Given the description of an element on the screen output the (x, y) to click on. 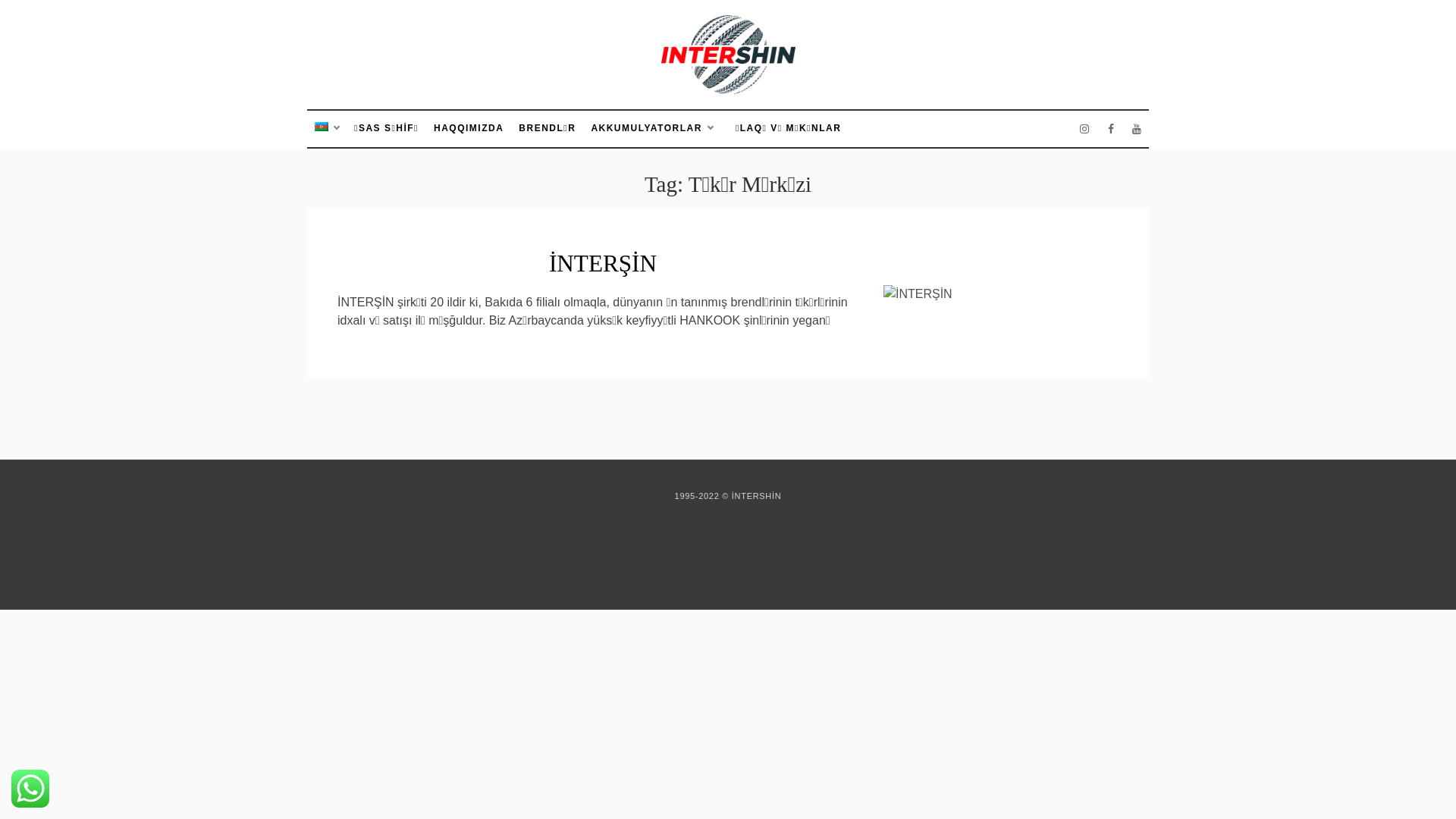
AZ Element type: hover (330, 128)
HAQQIMIZDA Element type: text (468, 128)
AKKUMULYATORLAR Element type: text (651, 128)
